Given the description of an element on the screen output the (x, y) to click on. 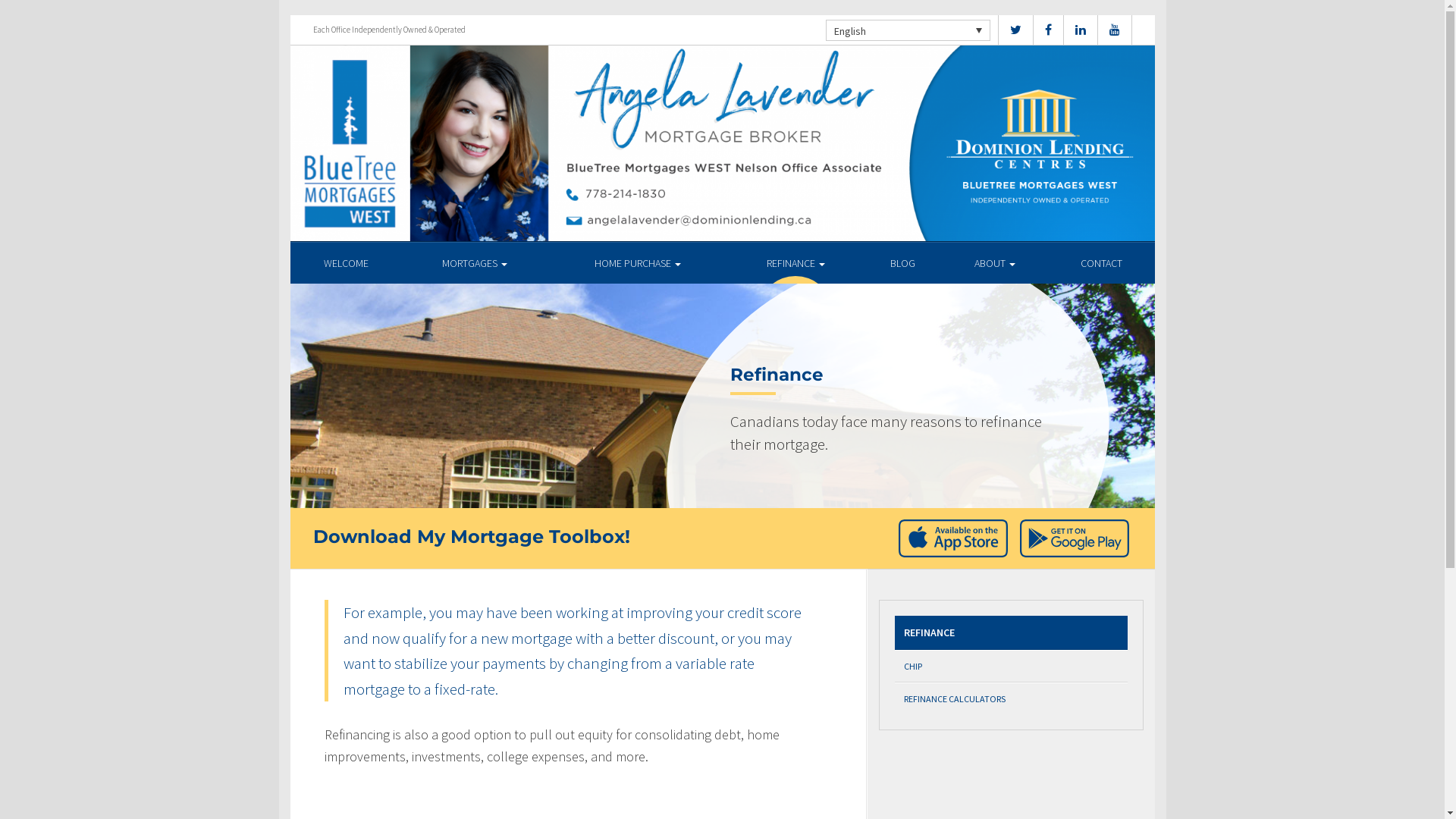
REFINANCE Element type: text (1010, 632)
REFINANCE CALCULATORS Element type: text (1010, 698)
CHIP Element type: text (1010, 665)
MORTGAGES Element type: text (474, 262)
REFINANCE Element type: text (795, 262)
WELCOME Element type: text (345, 262)
CONTACT Element type: text (1101, 262)
BLOG Element type: text (901, 262)
English Element type: text (907, 29)
ABOUT Element type: text (994, 262)
HOME PURCHASE Element type: text (637, 262)
